Given the description of an element on the screen output the (x, y) to click on. 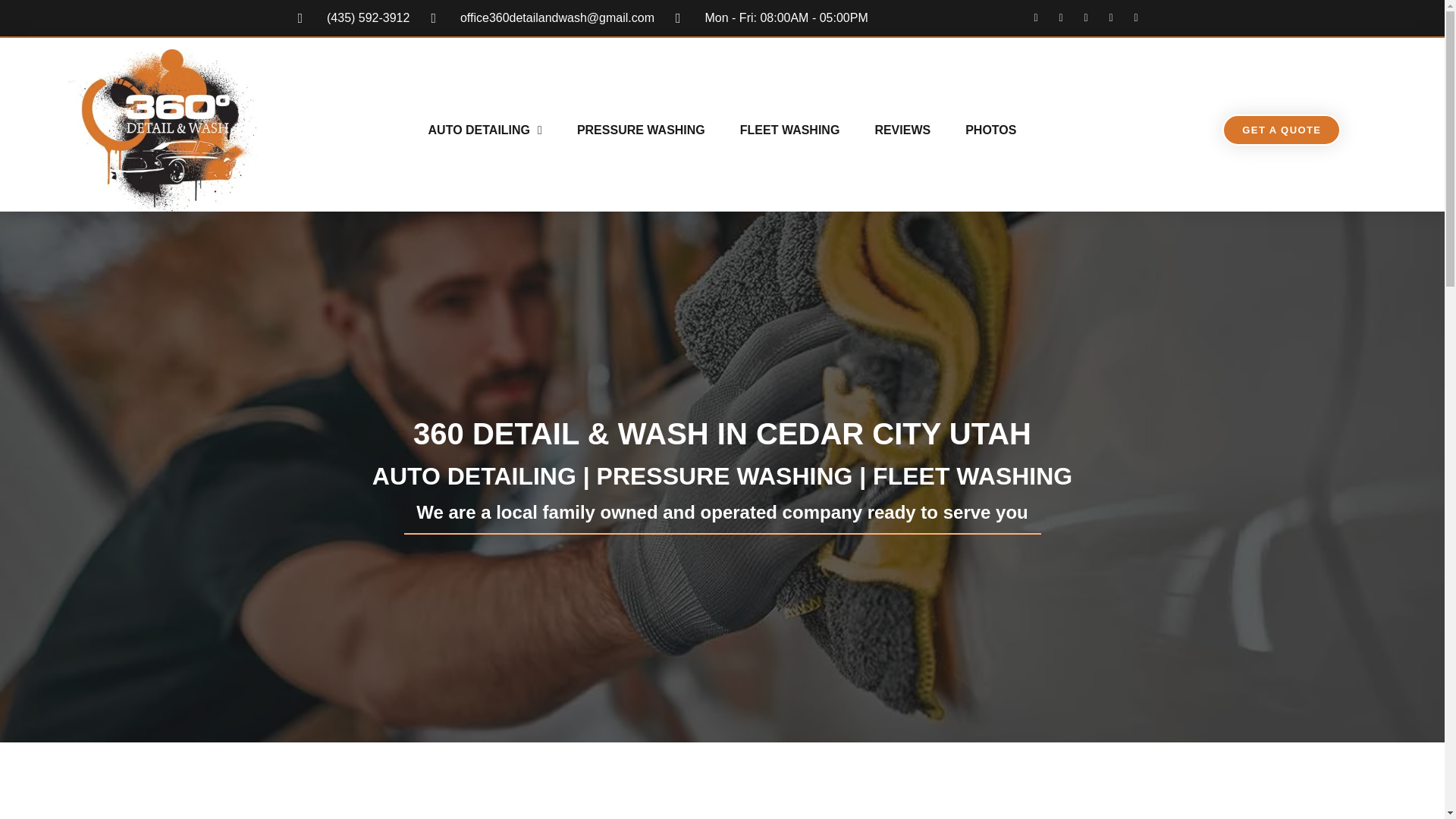
GET A QUOTE (1281, 129)
PHOTOS (990, 130)
AUTO DETAILING (485, 130)
REVIEWS (901, 130)
FLEET WASHING (790, 130)
PRESSURE WASHING (641, 130)
